Given the description of an element on the screen output the (x, y) to click on. 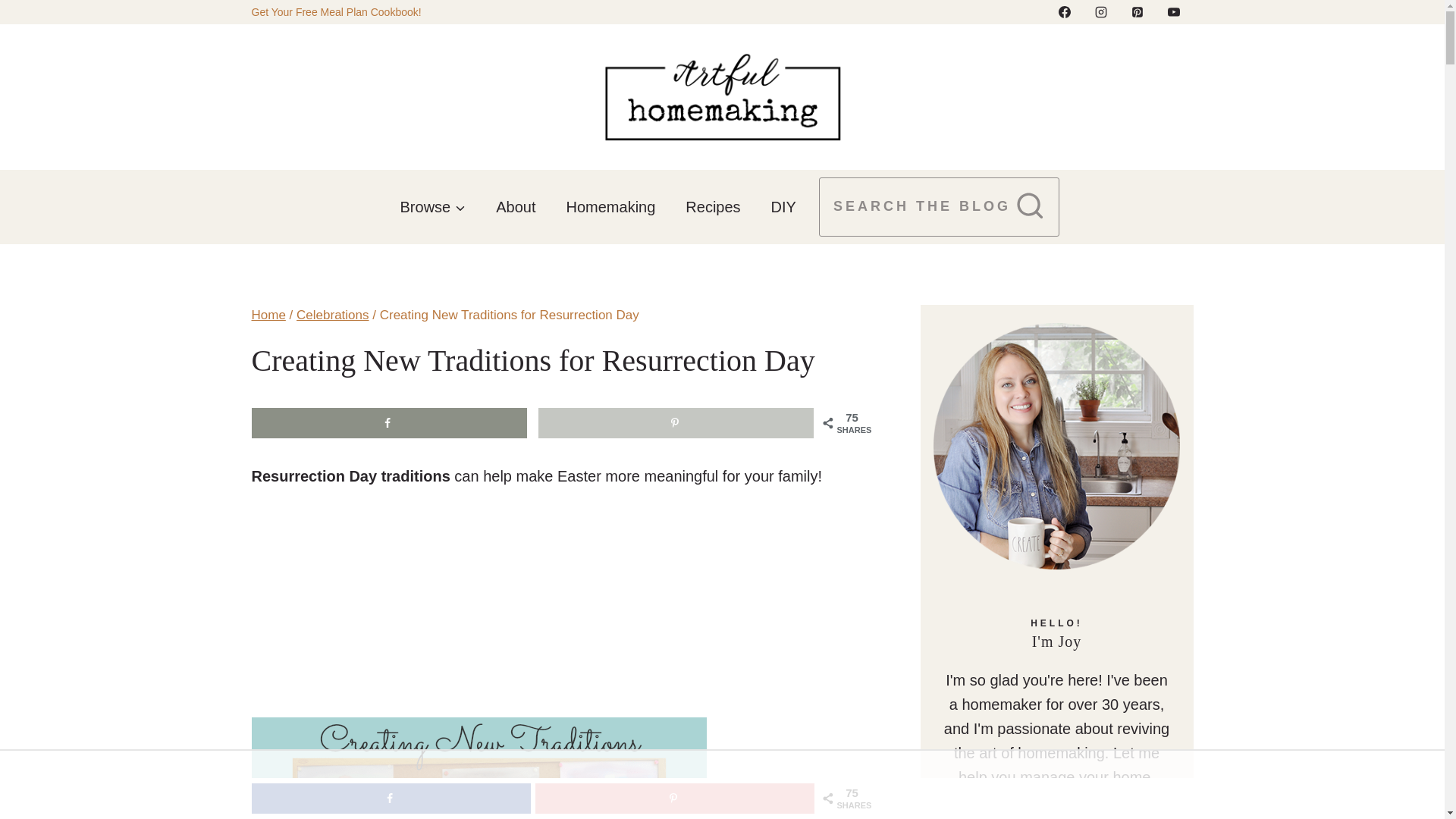
Save to Pinterest (674, 798)
Save to Pinterest (675, 422)
SEARCH THE BLOG (938, 207)
DIY (782, 206)
Share on Facebook (391, 798)
Home (268, 314)
Recipes (712, 206)
Share on Facebook (389, 422)
Get Your Free Meal Plan Cookbook! (336, 11)
Browse (433, 206)
